Given the description of an element on the screen output the (x, y) to click on. 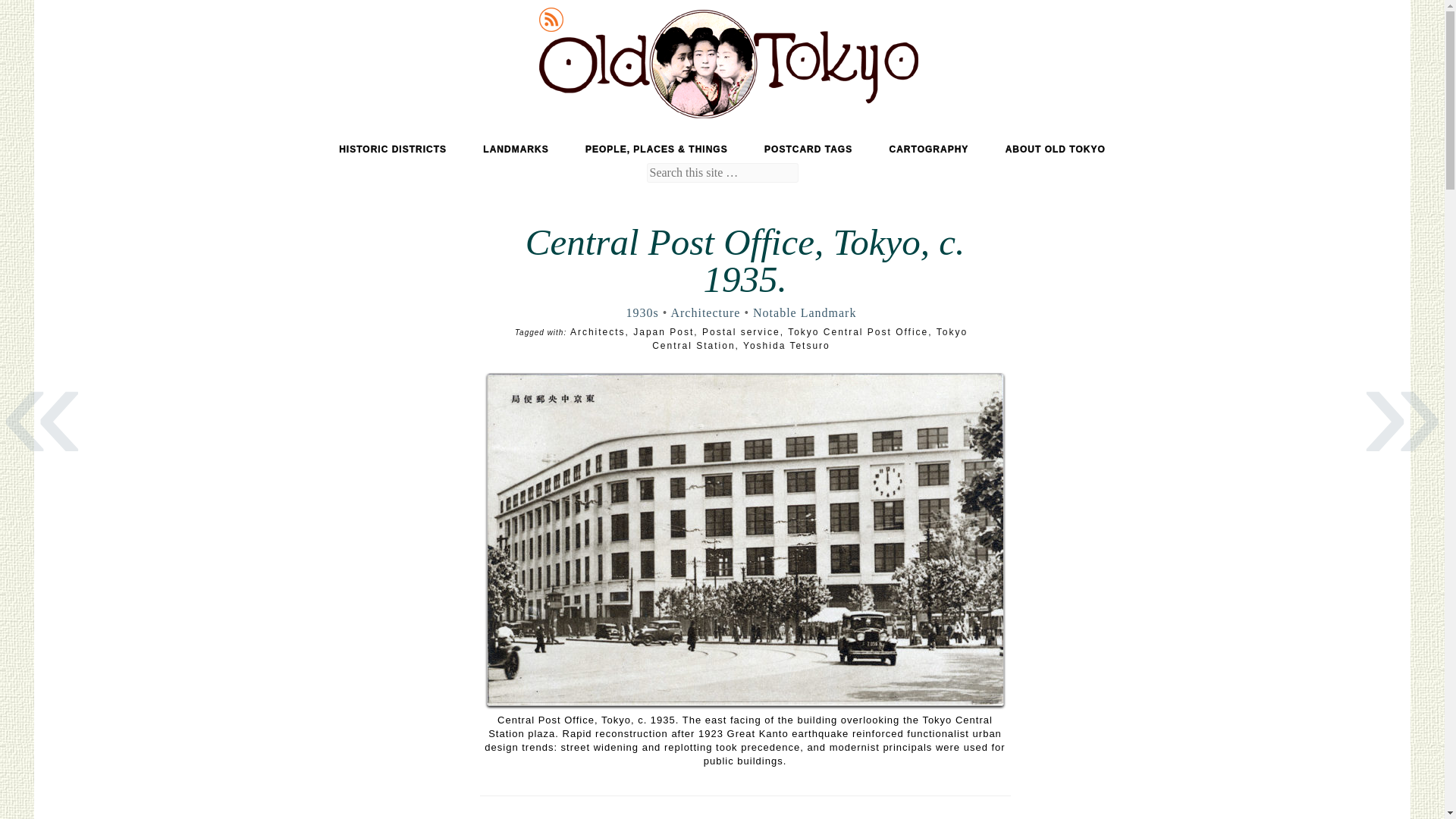
Old Tokyo (109, 31)
Architects (598, 331)
LANDMARKS (515, 148)
Skip to content (127, 148)
Architecture (704, 312)
Go (15, 10)
HISTORIC DISTRICTS (392, 148)
SKIP TO CONTENT (127, 148)
Yoshida Tetsuro (785, 345)
Old Tokyo (109, 31)
Tokyo Central Station (810, 338)
Japan Post (663, 331)
ABOUT OLD TOKYO (1055, 148)
Postal service (740, 331)
Tokyo Central Post Office (857, 331)
